Given the description of an element on the screen output the (x, y) to click on. 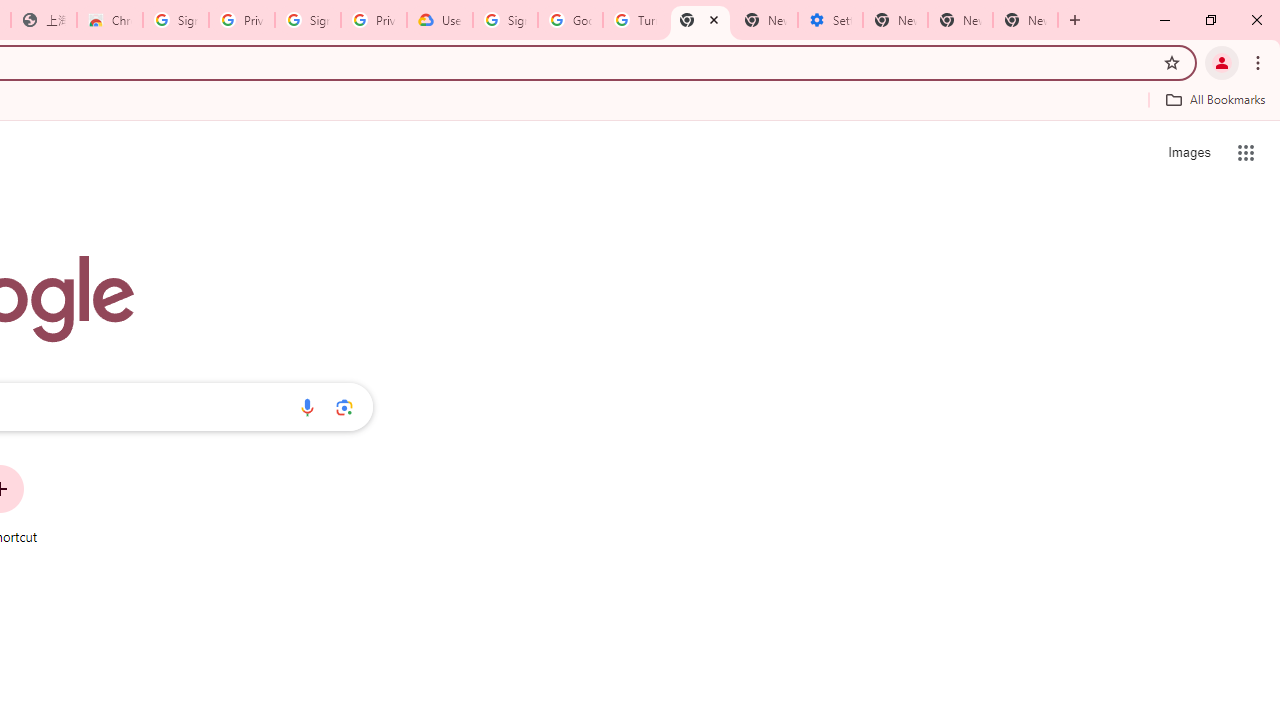
Search for Images  (1188, 152)
Chrome Web Store - Color themes by Chrome (109, 20)
Sign in - Google Accounts (175, 20)
All Bookmarks (1215, 99)
Turn cookies on or off - Computer - Google Account Help (635, 20)
New Tab (1025, 20)
Search by image (344, 407)
Sign in - Google Accounts (307, 20)
